Given the description of an element on the screen output the (x, y) to click on. 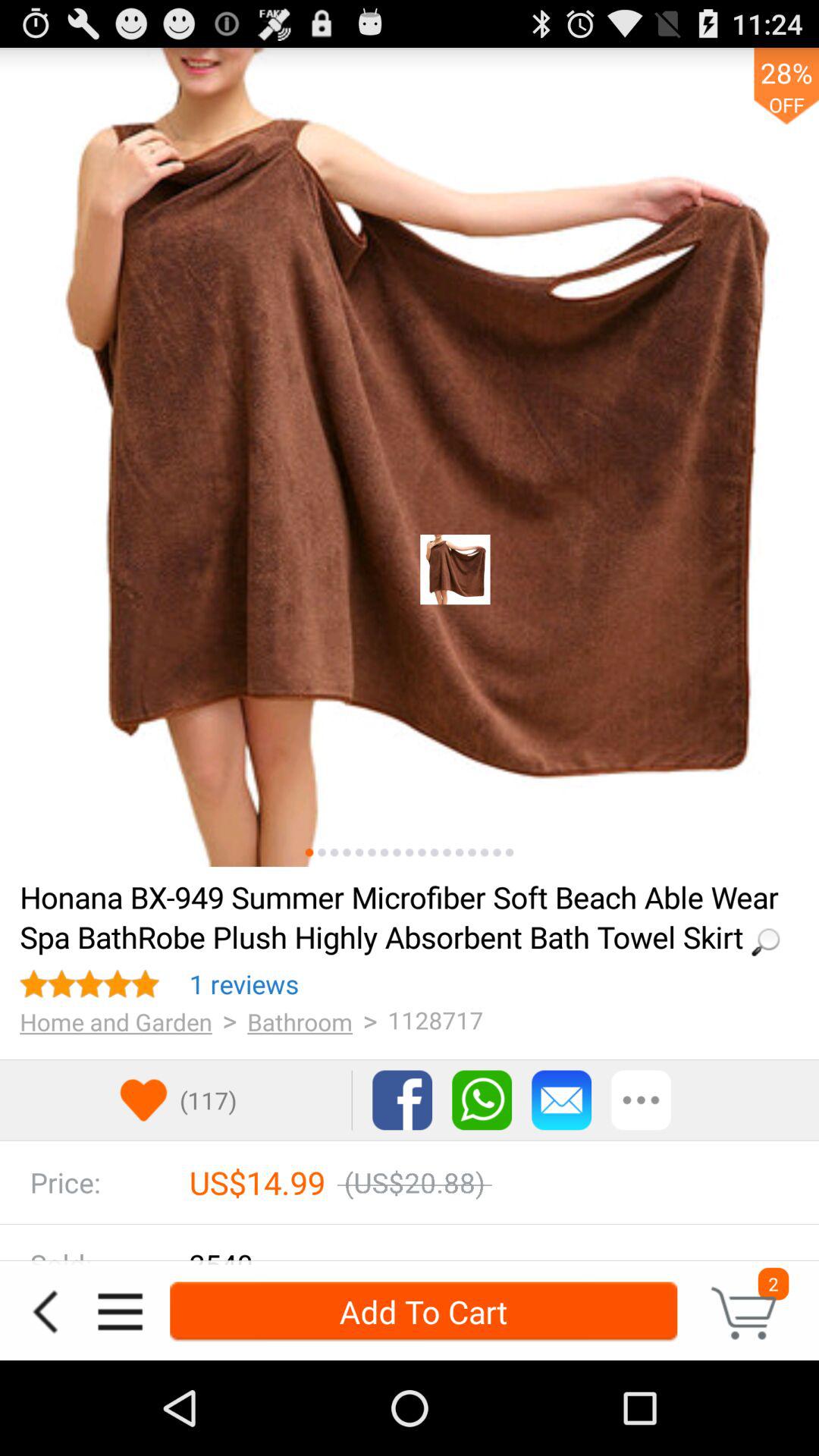
settings (641, 1100)
